Given the description of an element on the screen output the (x, y) to click on. 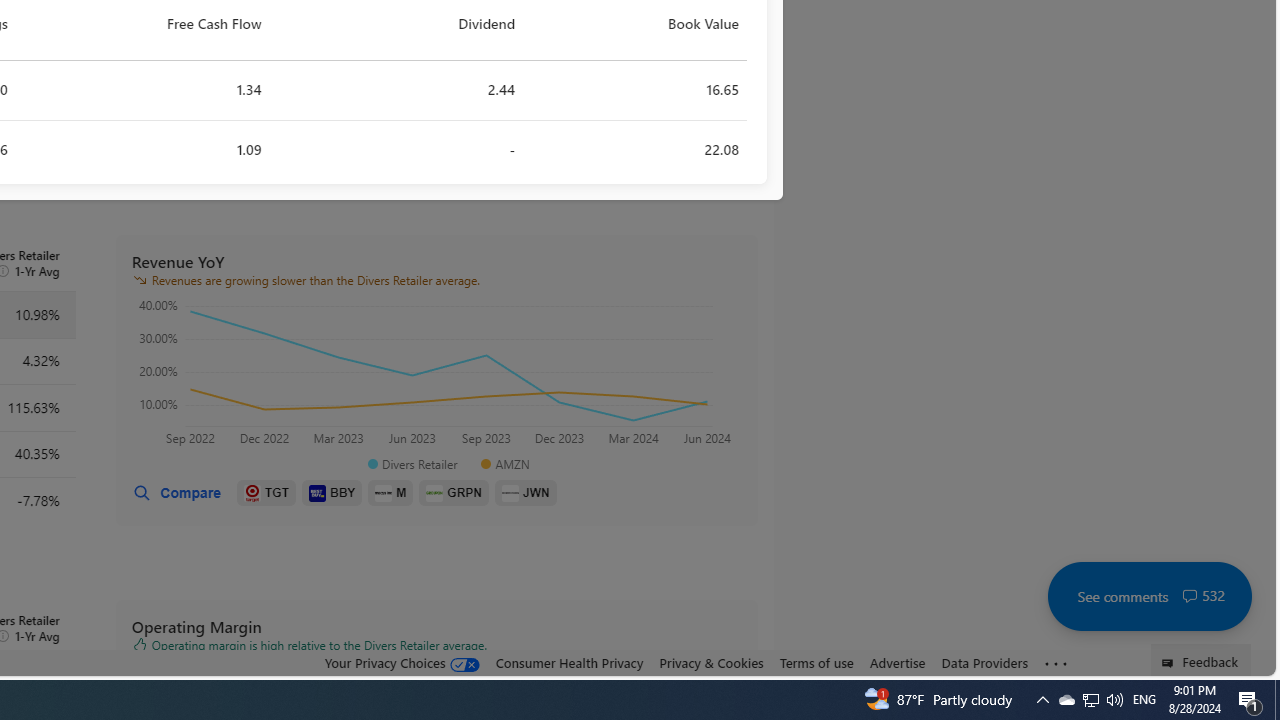
See comments 532 (1149, 596)
Data Providers (983, 662)
Data Providers (983, 663)
Consumer Health Privacy (569, 663)
Class: cwt-icon-vector (1190, 596)
Your Privacy Choices (401, 663)
M (390, 493)
GRPN (454, 493)
BBY (332, 493)
Privacy & Cookies (711, 663)
Class: react-financial-charts (436, 375)
Your Privacy Choices (401, 662)
